Given the description of an element on the screen output the (x, y) to click on. 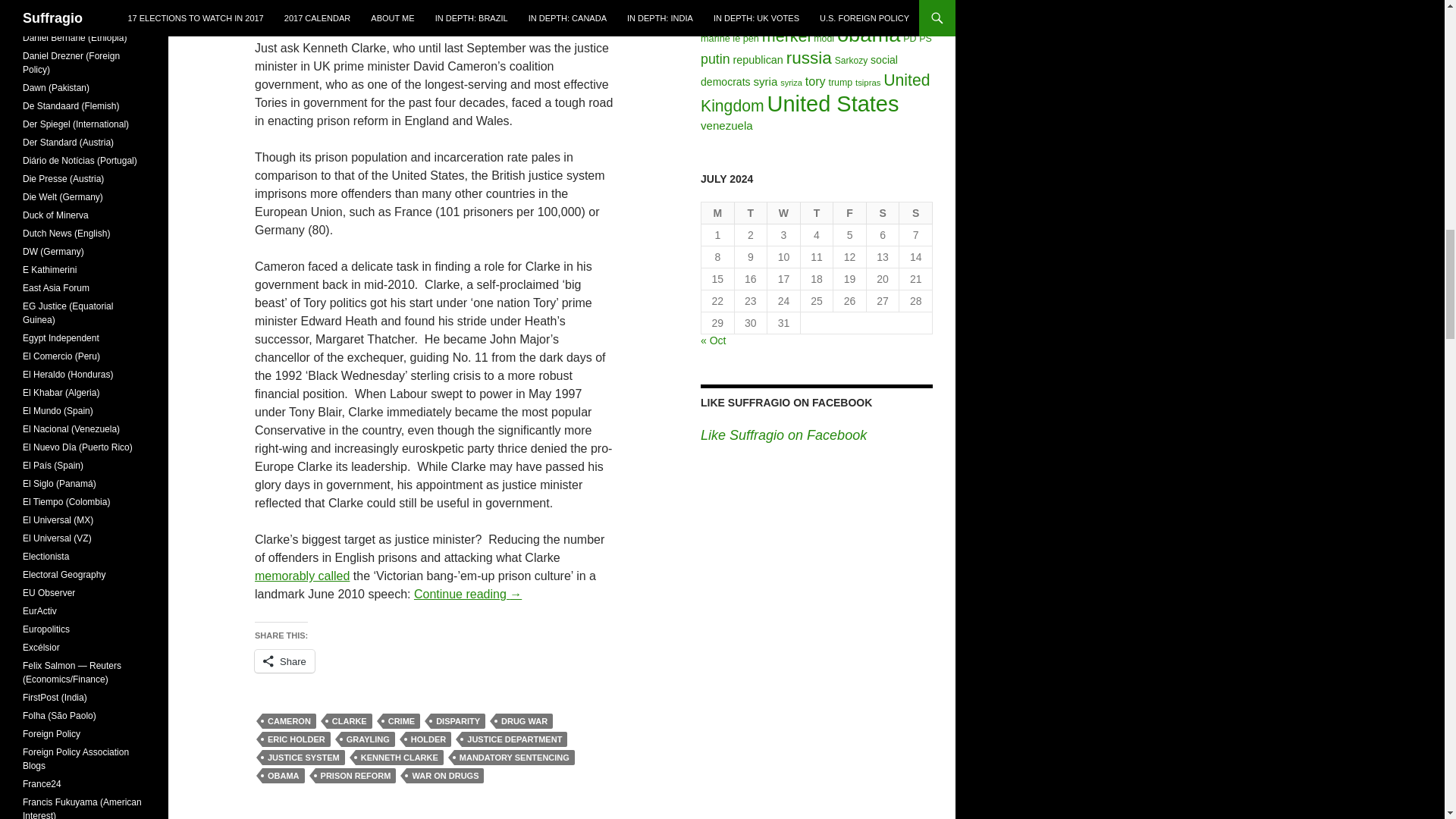
CLARKE (349, 720)
CRIME (401, 720)
Wednesday (783, 213)
GRAYLING (367, 739)
Share (284, 661)
ERIC HOLDER (296, 739)
DRUG WAR (524, 720)
Tuesday (751, 213)
Thursday (817, 213)
CAMERON (288, 720)
memorably called (301, 575)
DISPARITY (457, 720)
Monday (718, 213)
